Given the description of an element on the screen output the (x, y) to click on. 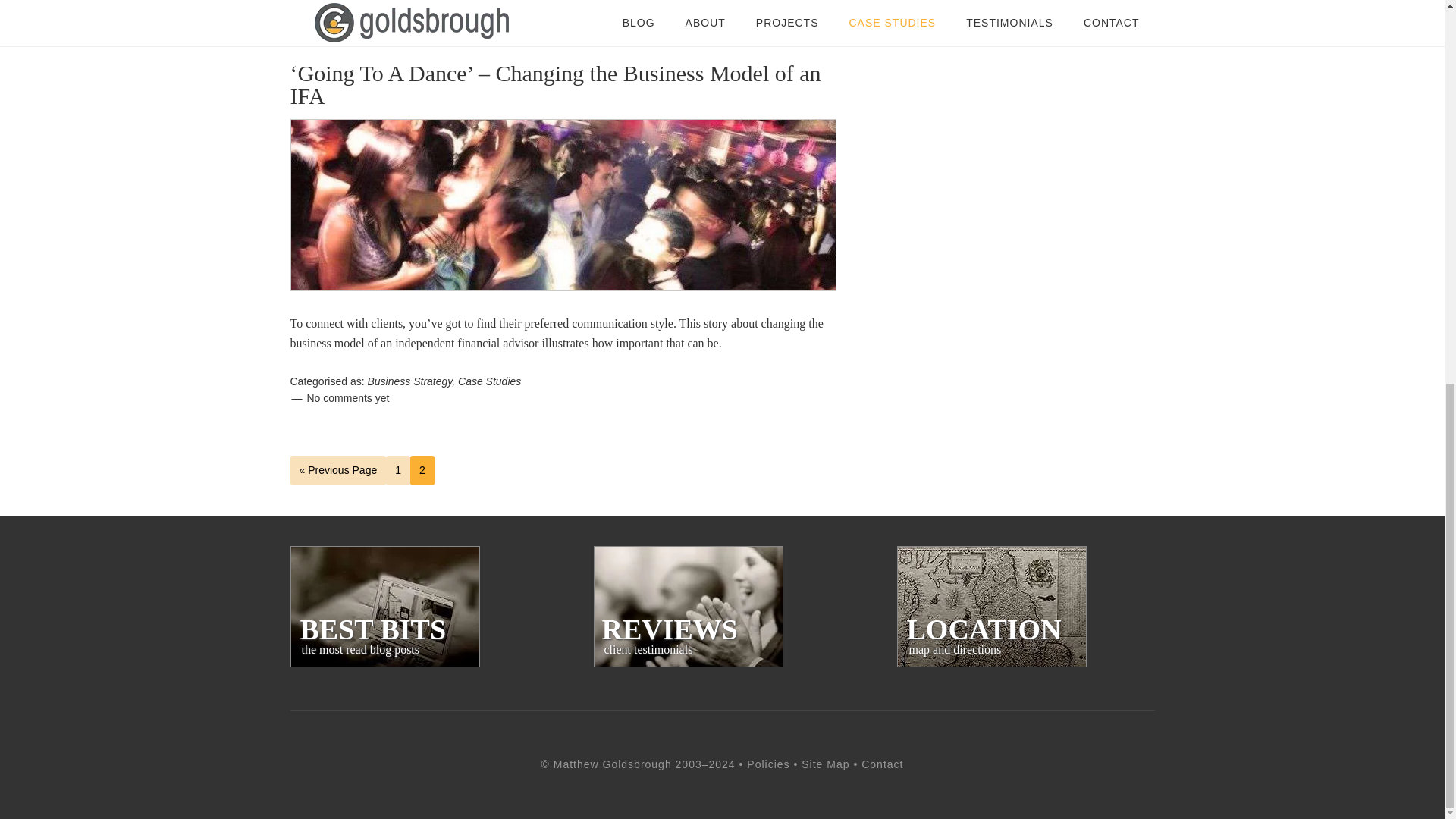
No comments yet (346, 5)
Case Studies (687, 606)
Contact (489, 381)
Policies (881, 764)
No comments yet (767, 764)
Site Map (346, 398)
Business Strategy (991, 606)
